Given the description of an element on the screen output the (x, y) to click on. 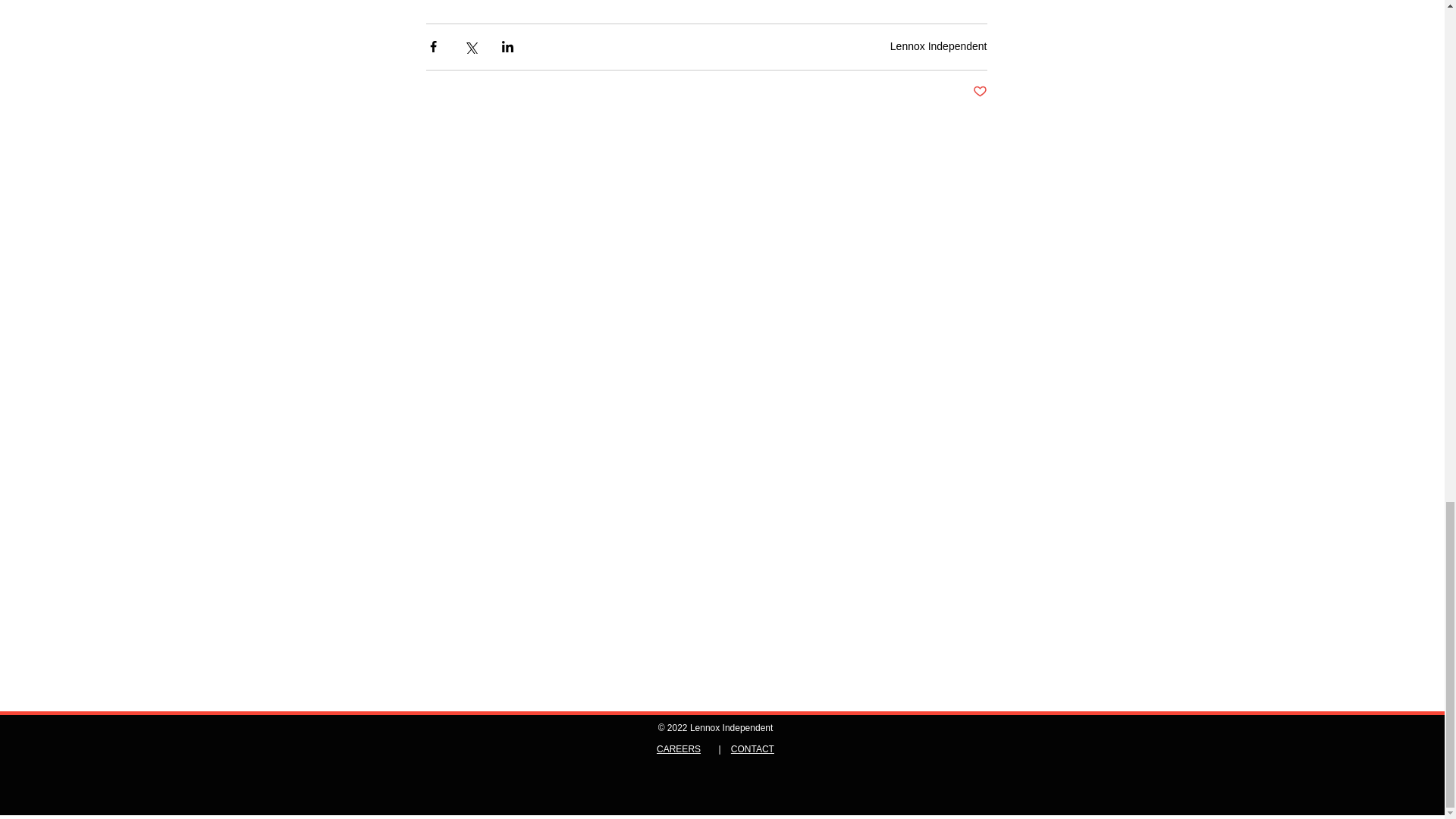
Post not marked as liked (979, 91)
CAREERS (678, 748)
CONTACT (752, 748)
Lennox Independent (938, 46)
